Given the description of an element on the screen output the (x, y) to click on. 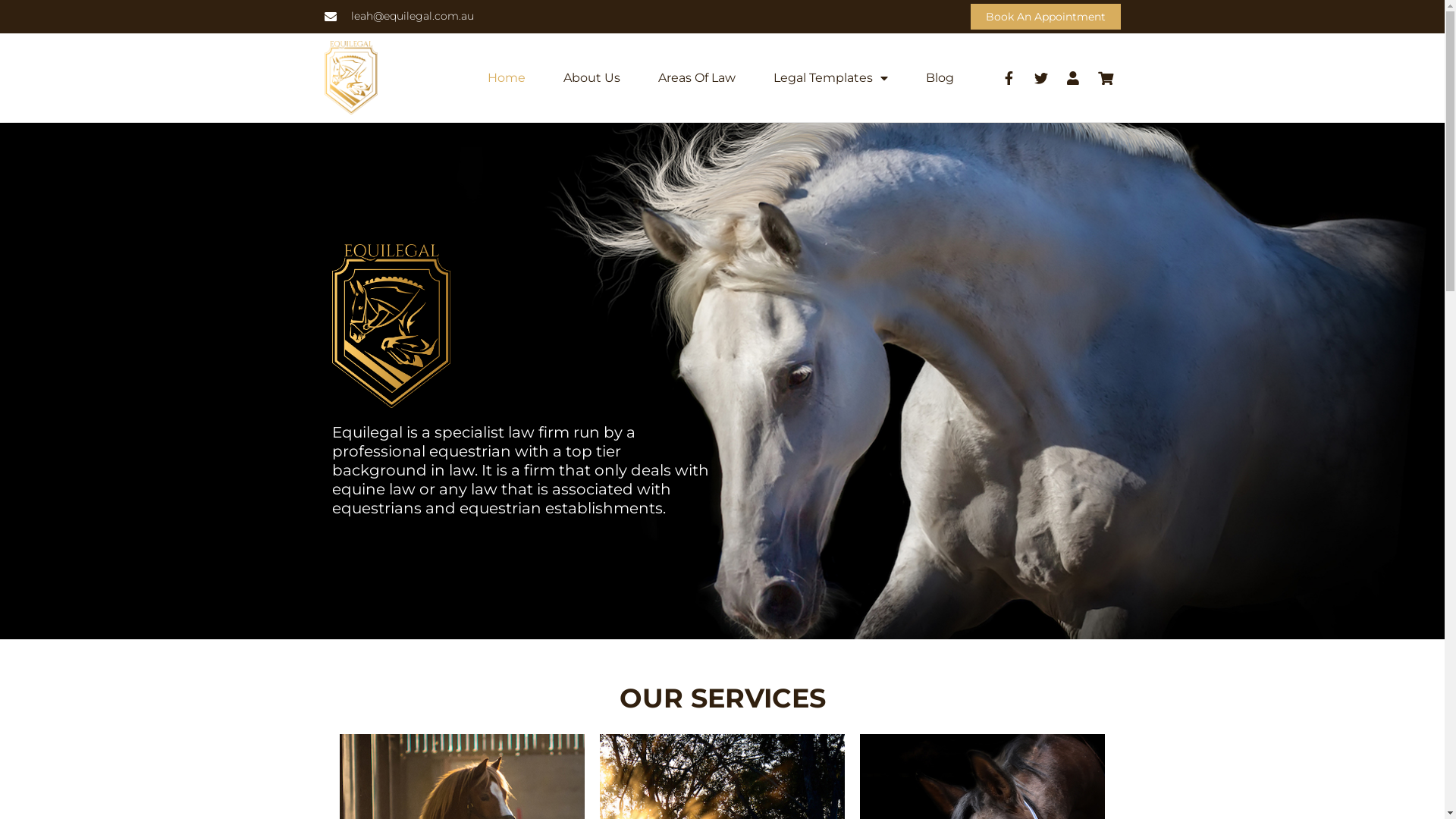
Home Element type: text (506, 77)
About Us Element type: text (591, 77)
Areas Of Law Element type: text (696, 77)
Legal Templates Element type: text (830, 77)
leah@equilegal.com.au Element type: text (398, 15)
Book An Appointment Element type: text (1045, 16)
Blog Element type: text (939, 77)
